Given the description of an element on the screen output the (x, y) to click on. 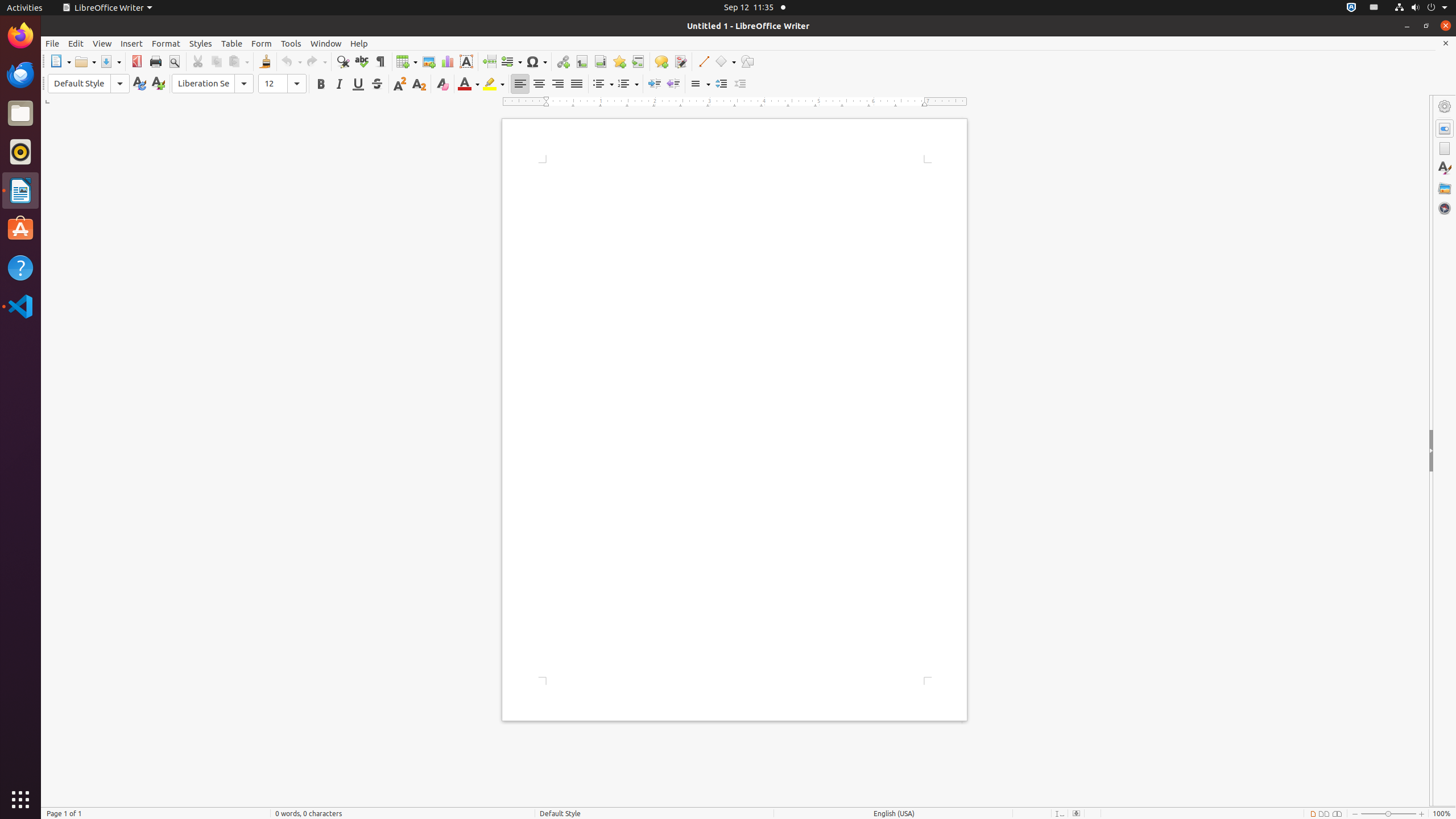
Basic Shapes Element type: push-button (724, 61)
Bullets Element type: push-button (602, 83)
Strikethrough Element type: toggle-button (376, 83)
Navigator Element type: radio-button (1444, 208)
Page Break Element type: push-button (489, 61)
